Given the description of an element on the screen output the (x, y) to click on. 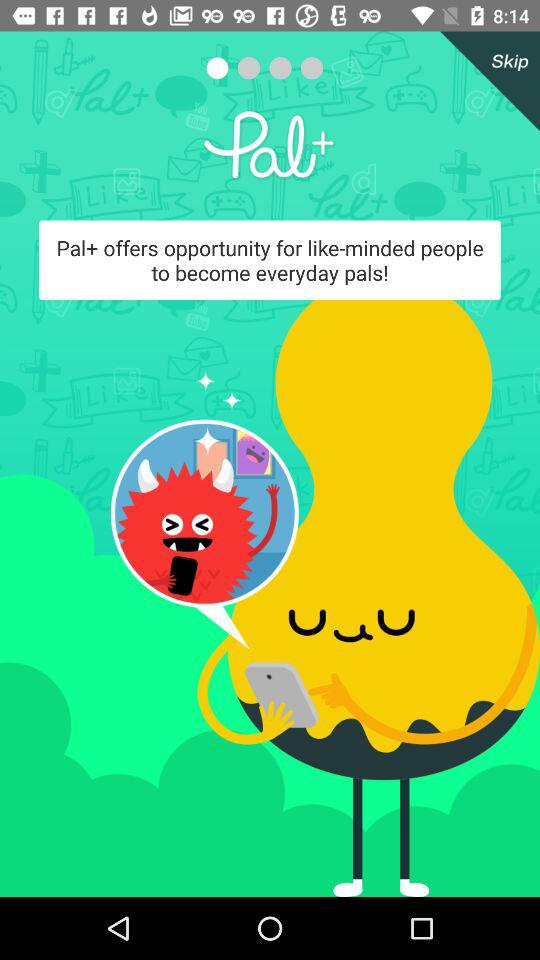
click icon above pal offers opportunity (486, 81)
